Given the description of an element on the screen output the (x, y) to click on. 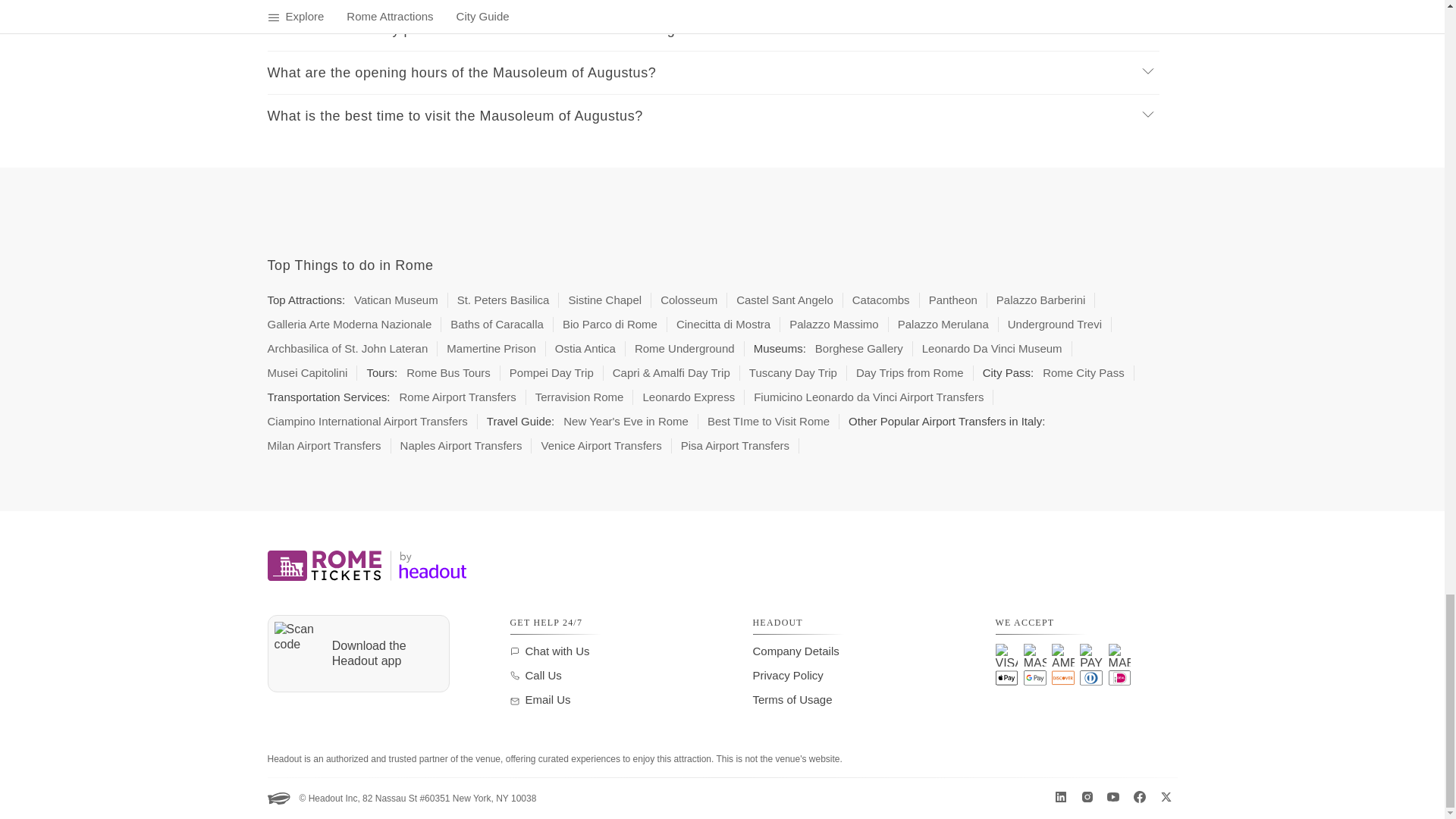
LinkedIn IconHeadout's LinkedIn Handle (1060, 797)
